Given the description of an element on the screen output the (x, y) to click on. 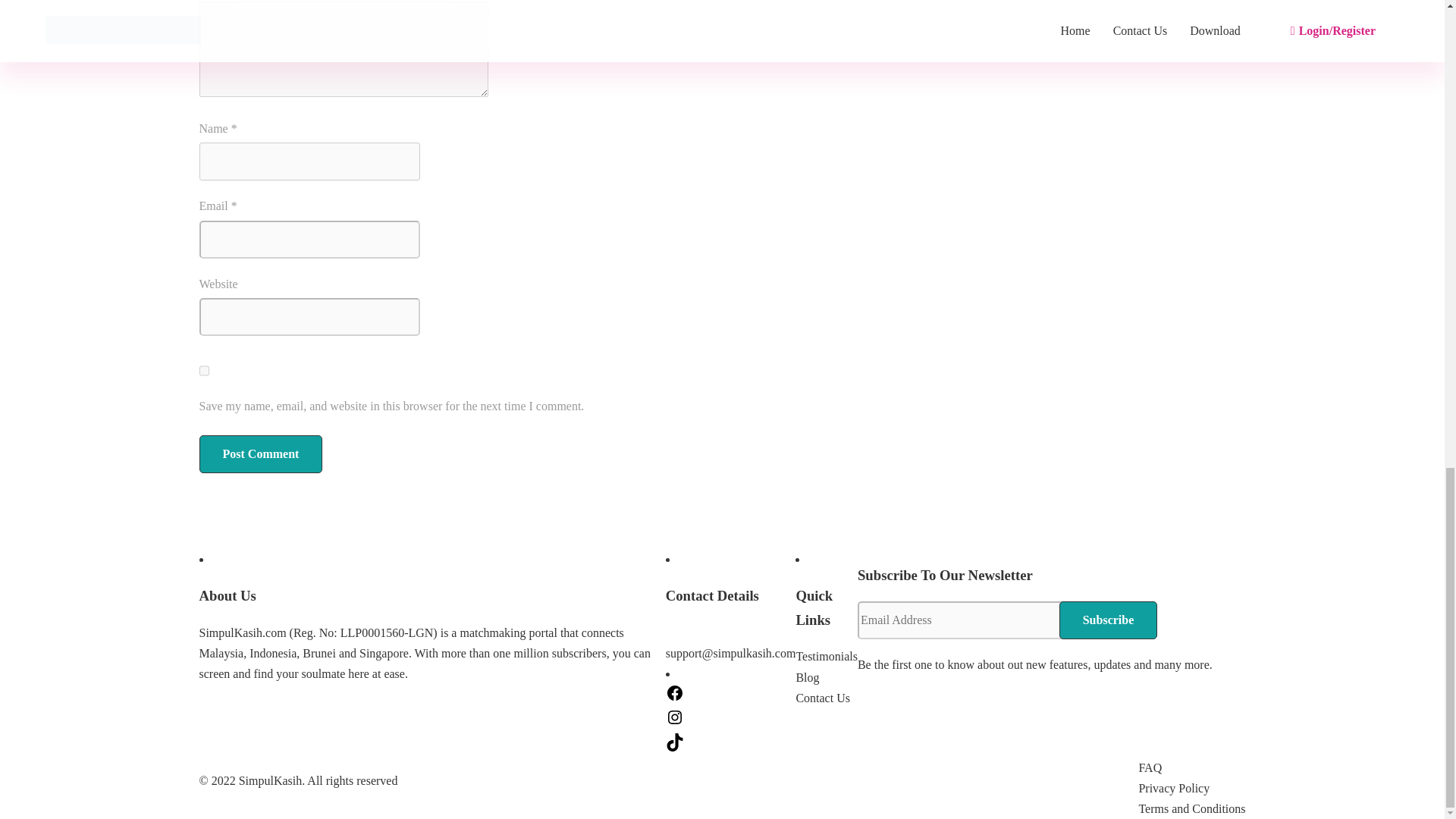
Subscribe (1108, 620)
Blog (806, 676)
Privacy Policy (1173, 788)
Post Comment (259, 453)
FAQ (1149, 767)
Subscribe (1108, 620)
Terms and Conditions (1191, 808)
Contact Us (822, 697)
Post Comment (259, 453)
Testimonials (825, 656)
